Given the description of an element on the screen output the (x, y) to click on. 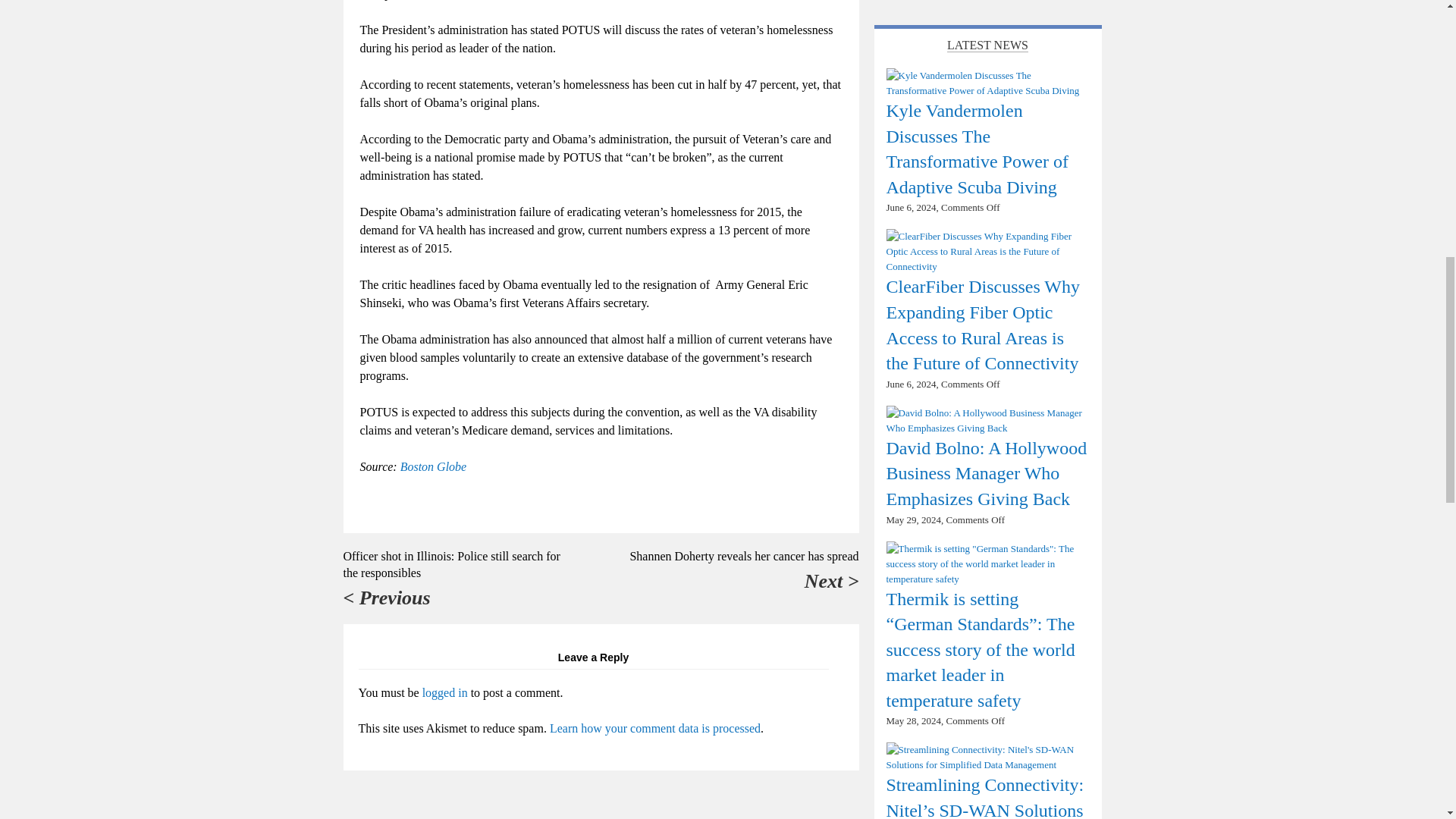
Learn how your comment data is processed (655, 727)
Shannen Doherty reveals her cancer has spread (743, 555)
Boston Globe (433, 466)
logged in (444, 692)
